Given the description of an element on the screen output the (x, y) to click on. 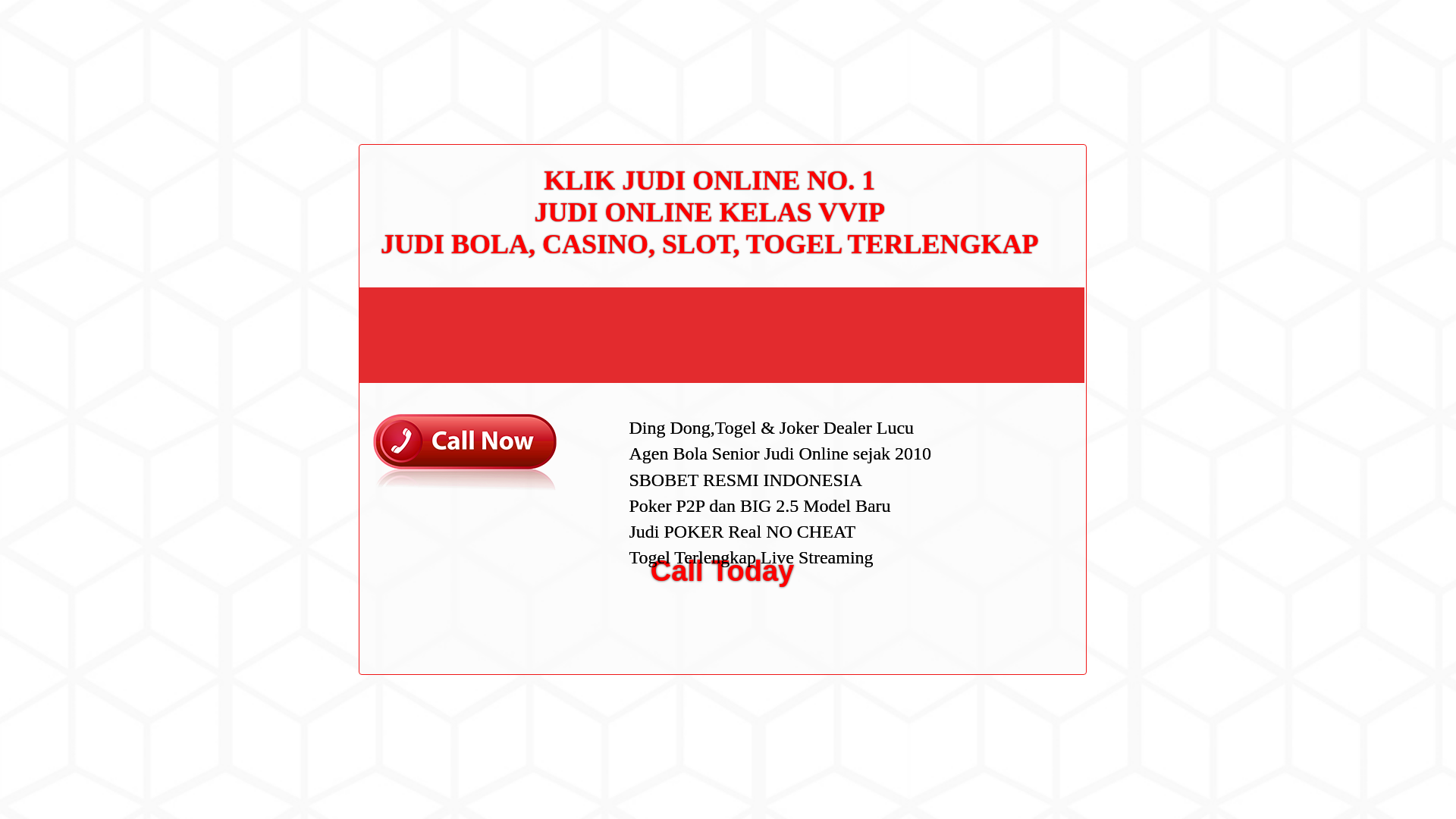
Latest Article (996, 172)
KANONSPORTS.COM (403, 28)
Skip to content (34, 9)
Search (1050, 85)
Search (1050, 85)
DMCA Policy (996, 282)
Search (1050, 85)
Privacy Policy (999, 306)
Contact Us (991, 258)
July 2020 (988, 432)
Search for: (1049, 47)
Blog (976, 510)
Disclaimer (990, 354)
Terms of Use (996, 330)
RSS (977, 612)
